Given the description of an element on the screen output the (x, y) to click on. 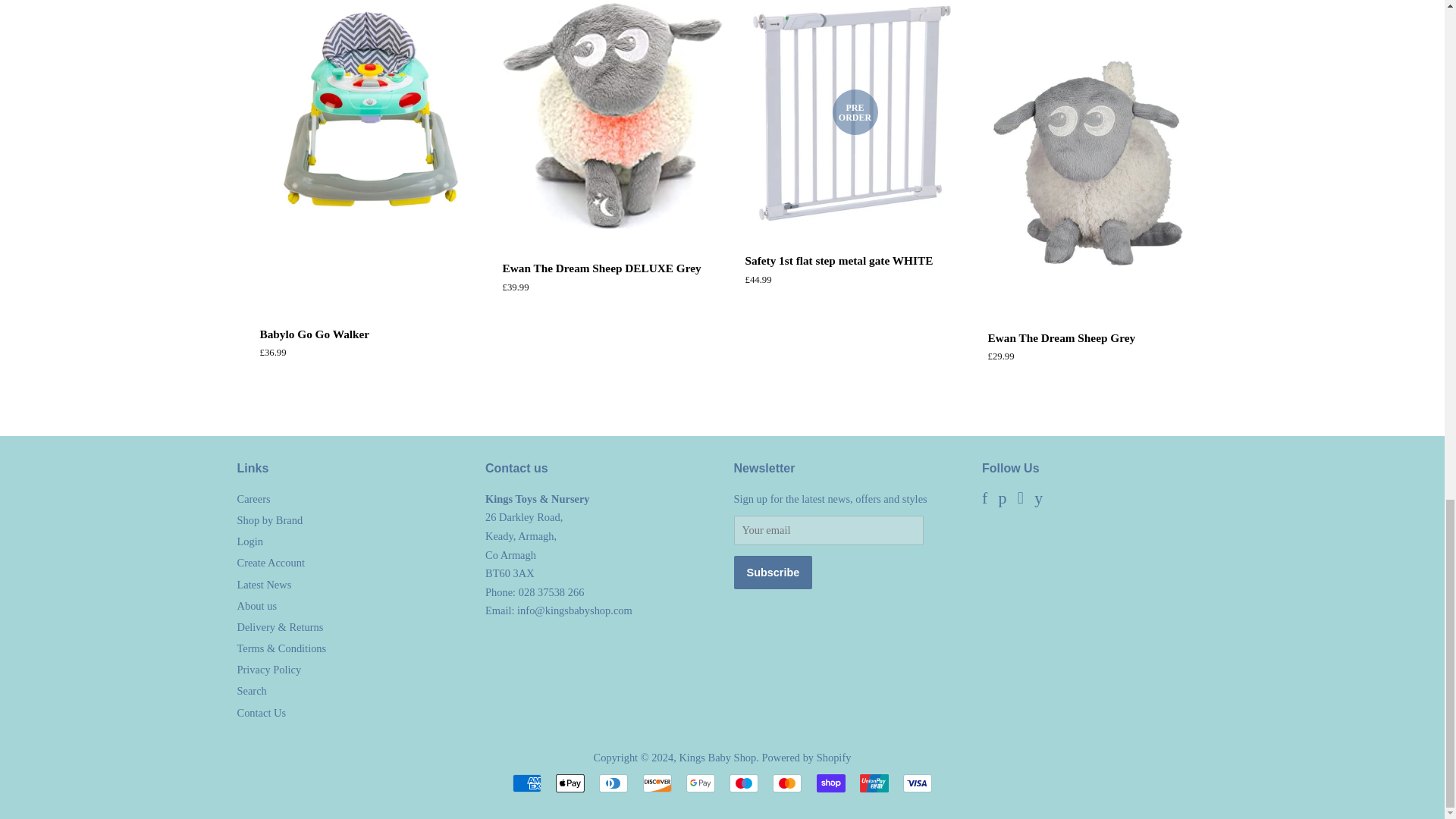
Mastercard (787, 782)
Union Pay (874, 782)
Maestro (743, 782)
Shop Pay (830, 782)
Visa (916, 782)
Google Pay (699, 782)
Subscribe (772, 572)
Discover (657, 782)
Diners Club (612, 782)
Apple Pay (570, 782)
American Express (526, 782)
